Given the description of an element on the screen output the (x, y) to click on. 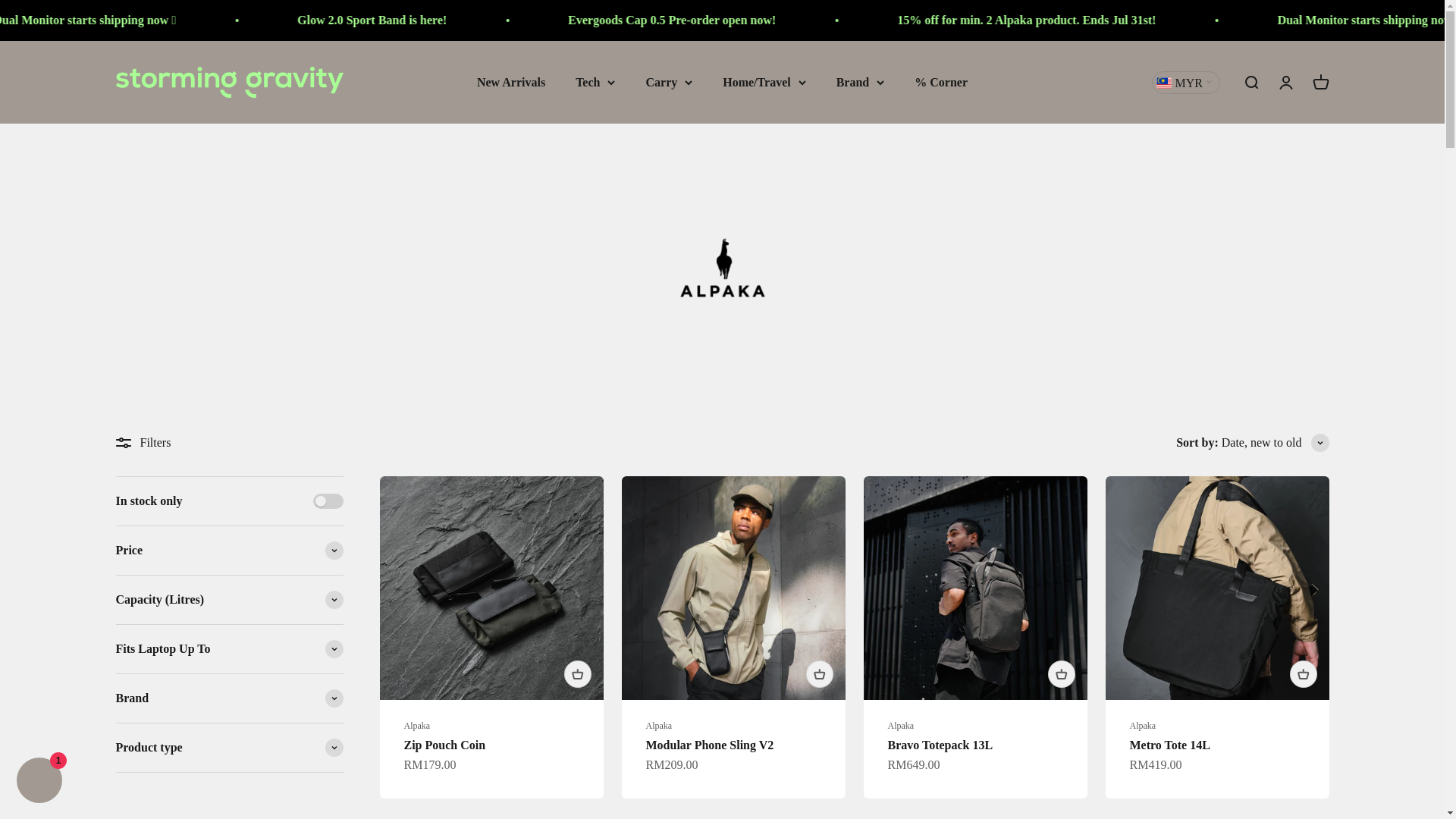
Evergoods Cap 0.5 Pre-order open now! (1032, 19)
Glow 2.0 Sport Band is here! (735, 19)
Shopify online store chat (38, 781)
1 (327, 500)
